Given the description of an element on the screen output the (x, y) to click on. 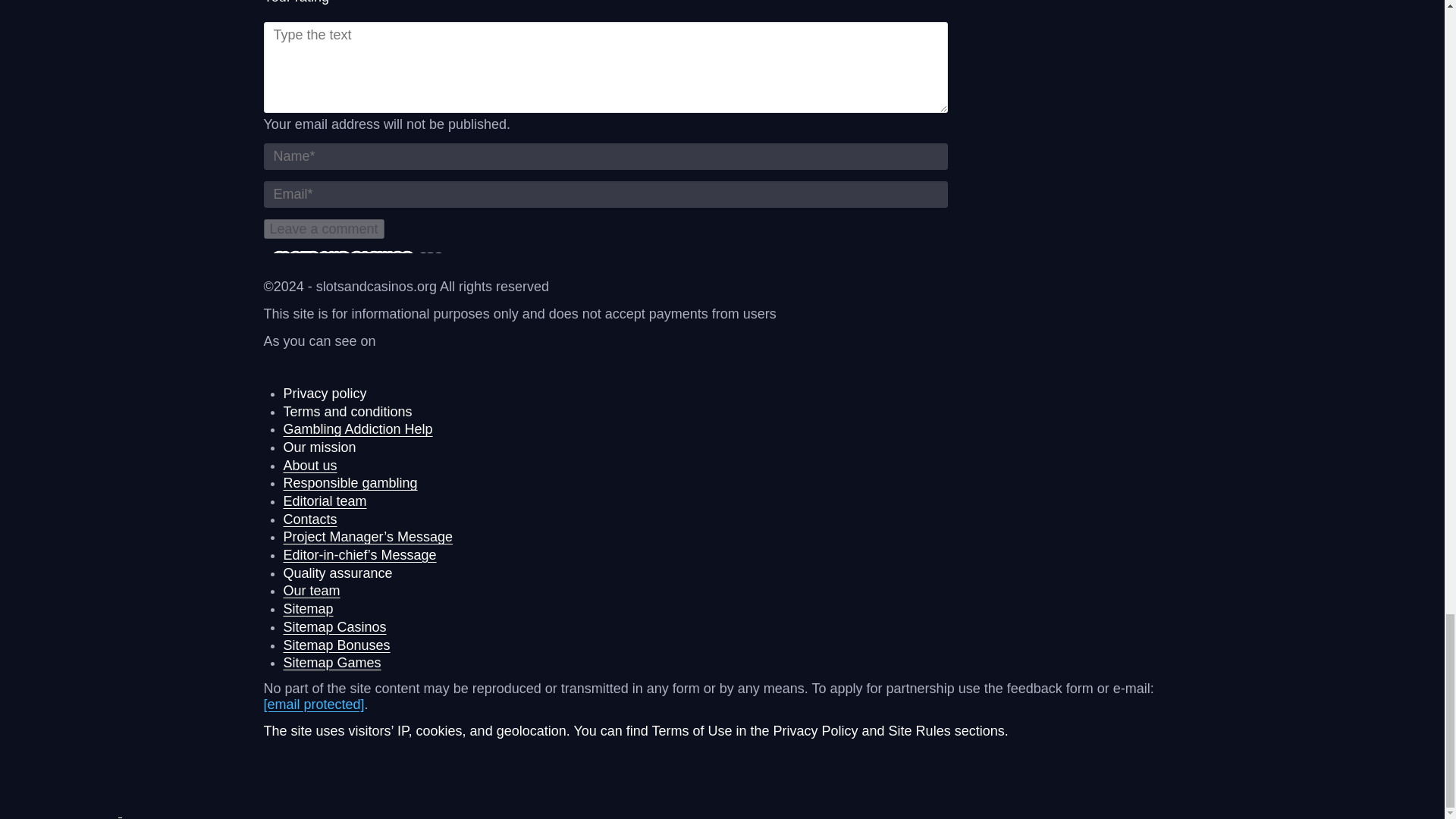
DMCA.com Protection Status (186, 810)
Leave a comment (323, 229)
